Given the description of an element on the screen output the (x, y) to click on. 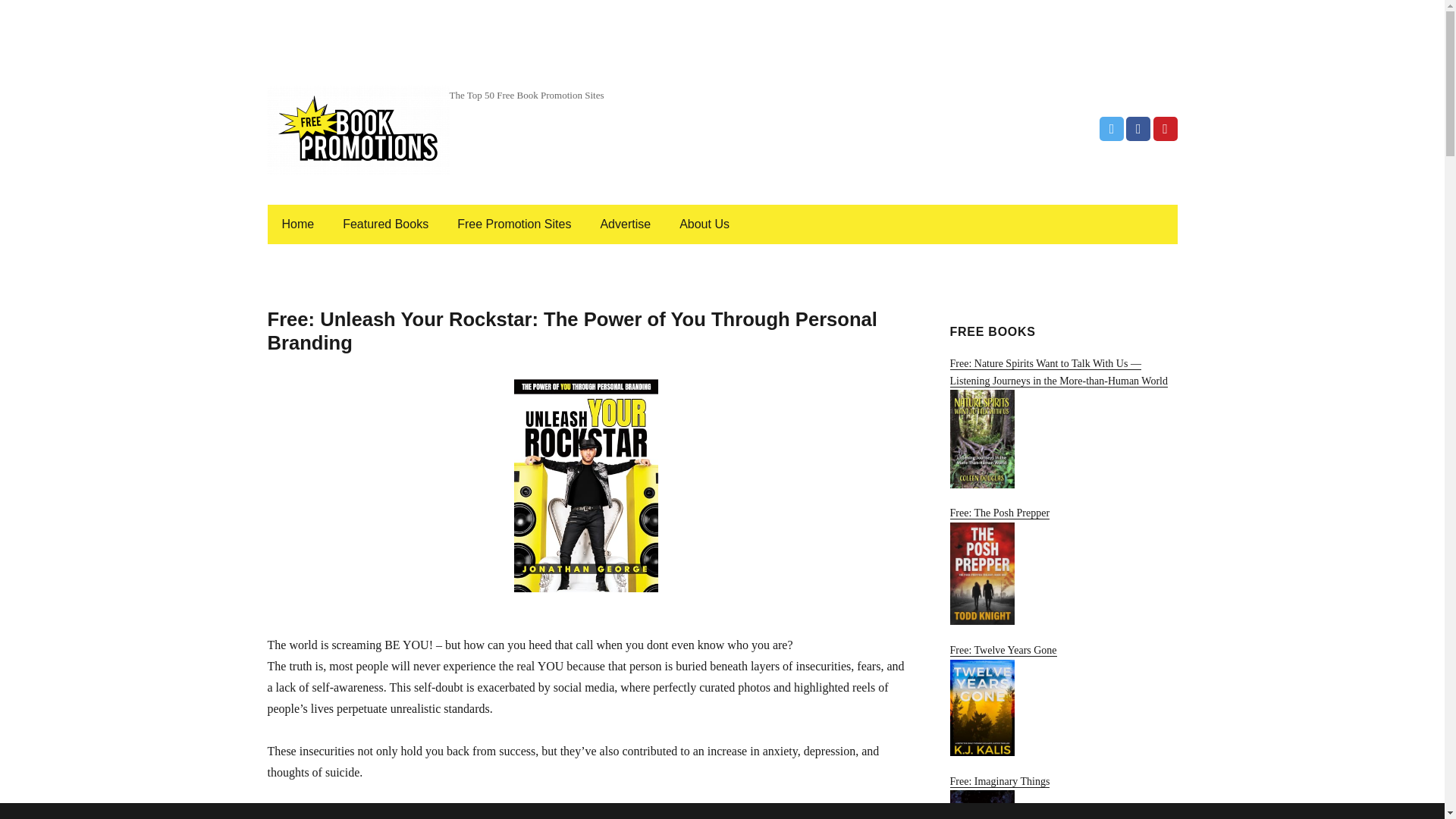
Facebook (1137, 128)
Free: Imaginary Things (1062, 797)
About Us (703, 224)
Free Promotion Sites (513, 224)
Free: Twelve Years Gone (1062, 699)
Twitter (1111, 128)
Advertise (625, 224)
Home (297, 224)
Free: The Posh Prepper (1062, 565)
Pinterest (1164, 128)
